Given the description of an element on the screen output the (x, y) to click on. 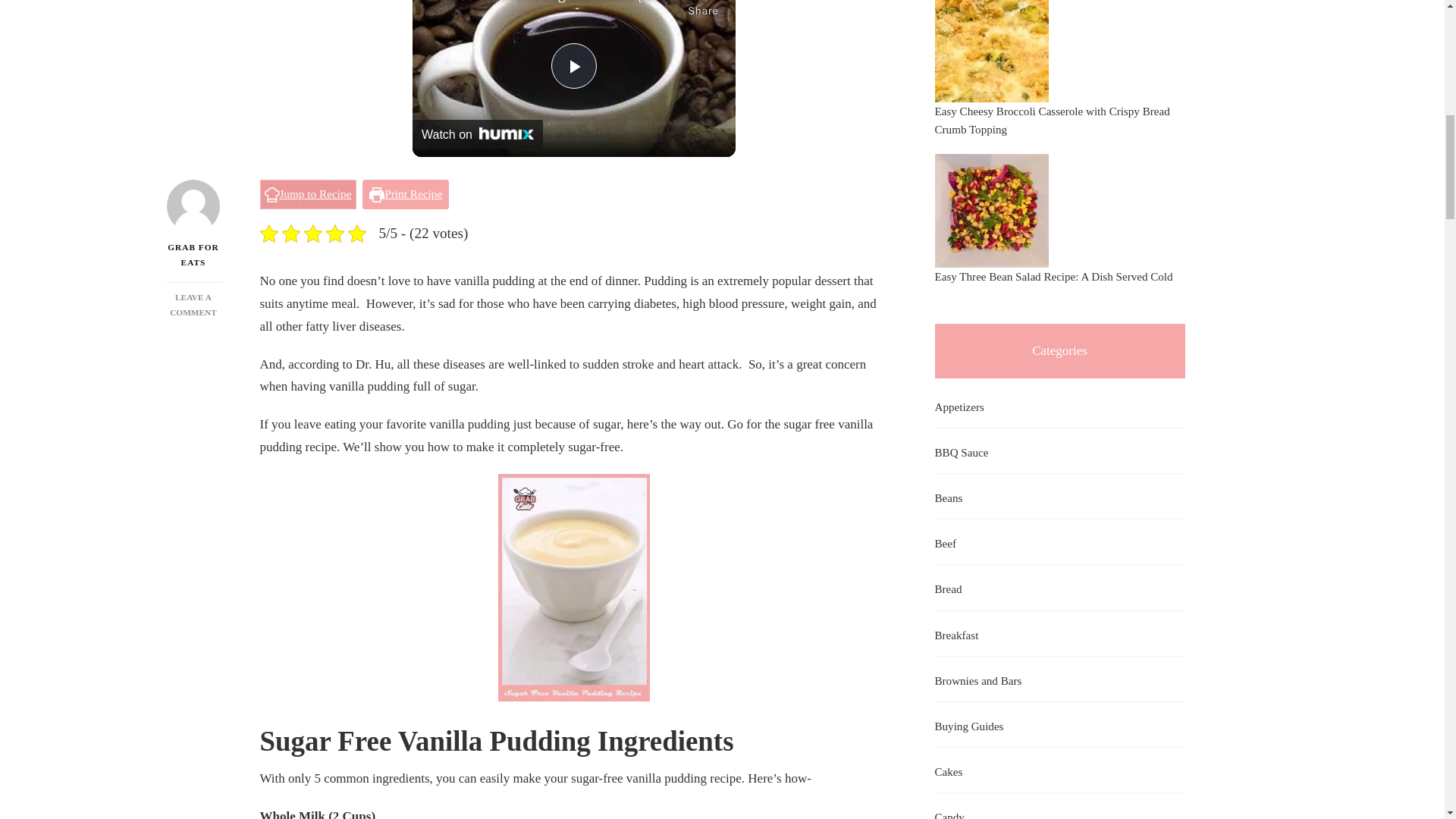
Play Video (573, 65)
share (703, 10)
Play Video (573, 65)
